Given the description of an element on the screen output the (x, y) to click on. 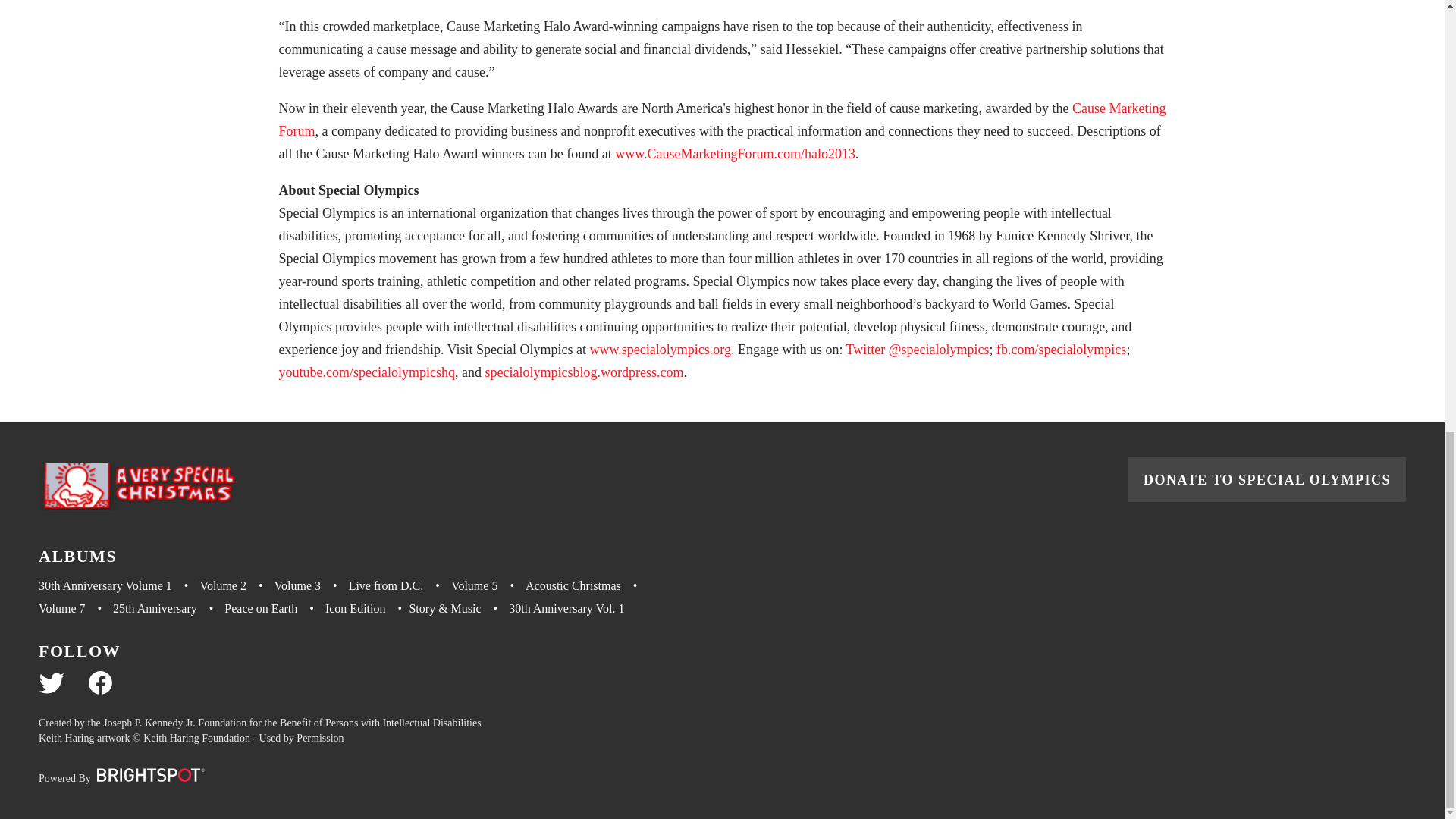
Volume 2 (236, 585)
Volume 3 (312, 585)
www.specialolympics.org (659, 349)
Volume 5 (488, 585)
Acoustic Christmas (586, 585)
specialolympicsblog.wordpress.com (583, 372)
Live from D.C. (400, 585)
30th Anniversary Volume 1 (119, 585)
Cause Marketing Forum (722, 119)
DONATE TO SPECIAL OLYMPICS (1267, 479)
